Given the description of an element on the screen output the (x, y) to click on. 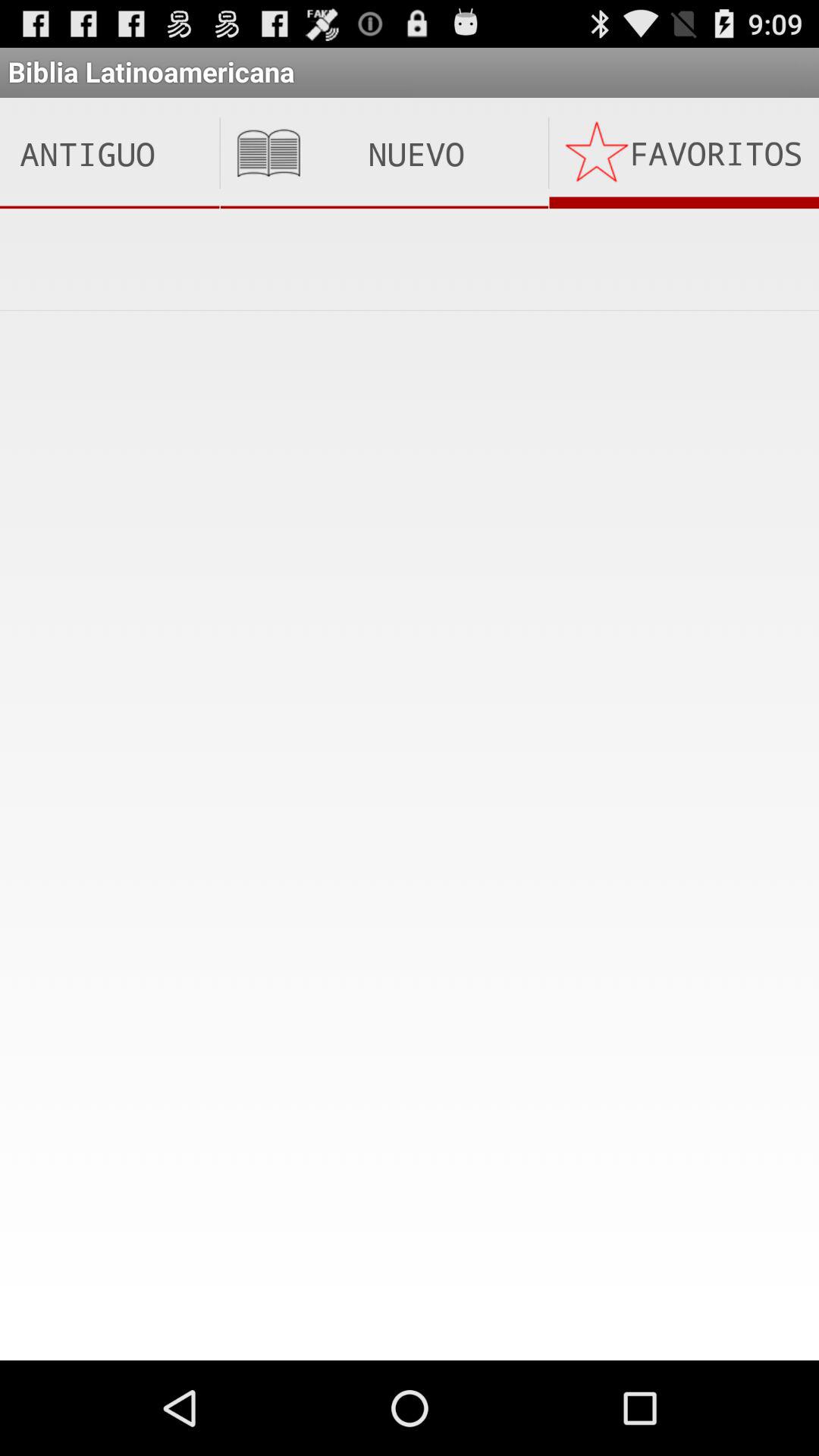
open the item at the top right corner (684, 152)
